Given the description of an element on the screen output the (x, y) to click on. 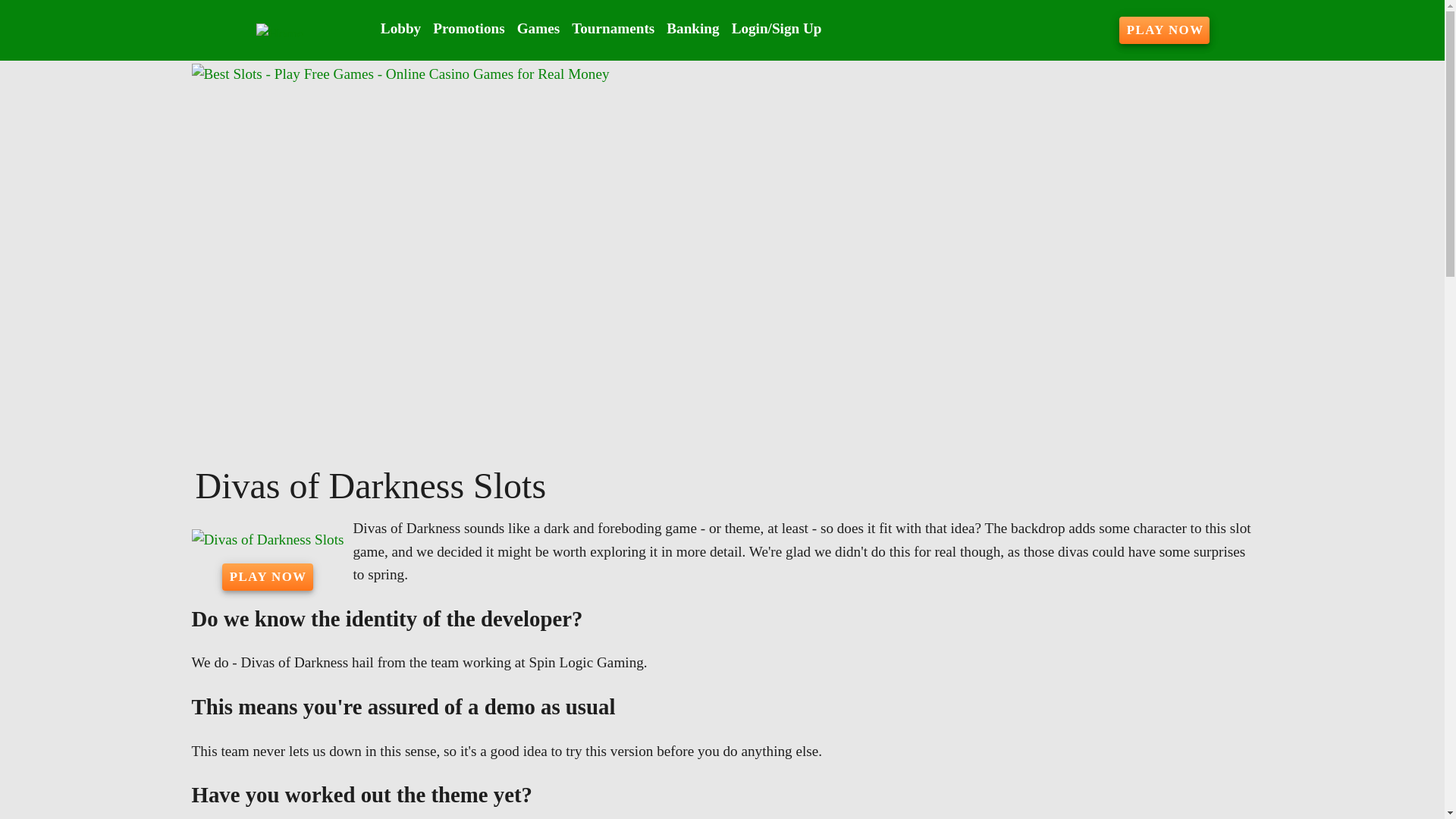
Lobby (400, 28)
PLAY NOW (267, 576)
Promotions (468, 28)
Banking (693, 28)
Games (538, 28)
Tournaments (613, 28)
PLAY NOW (1164, 30)
